Given the description of an element on the screen output the (x, y) to click on. 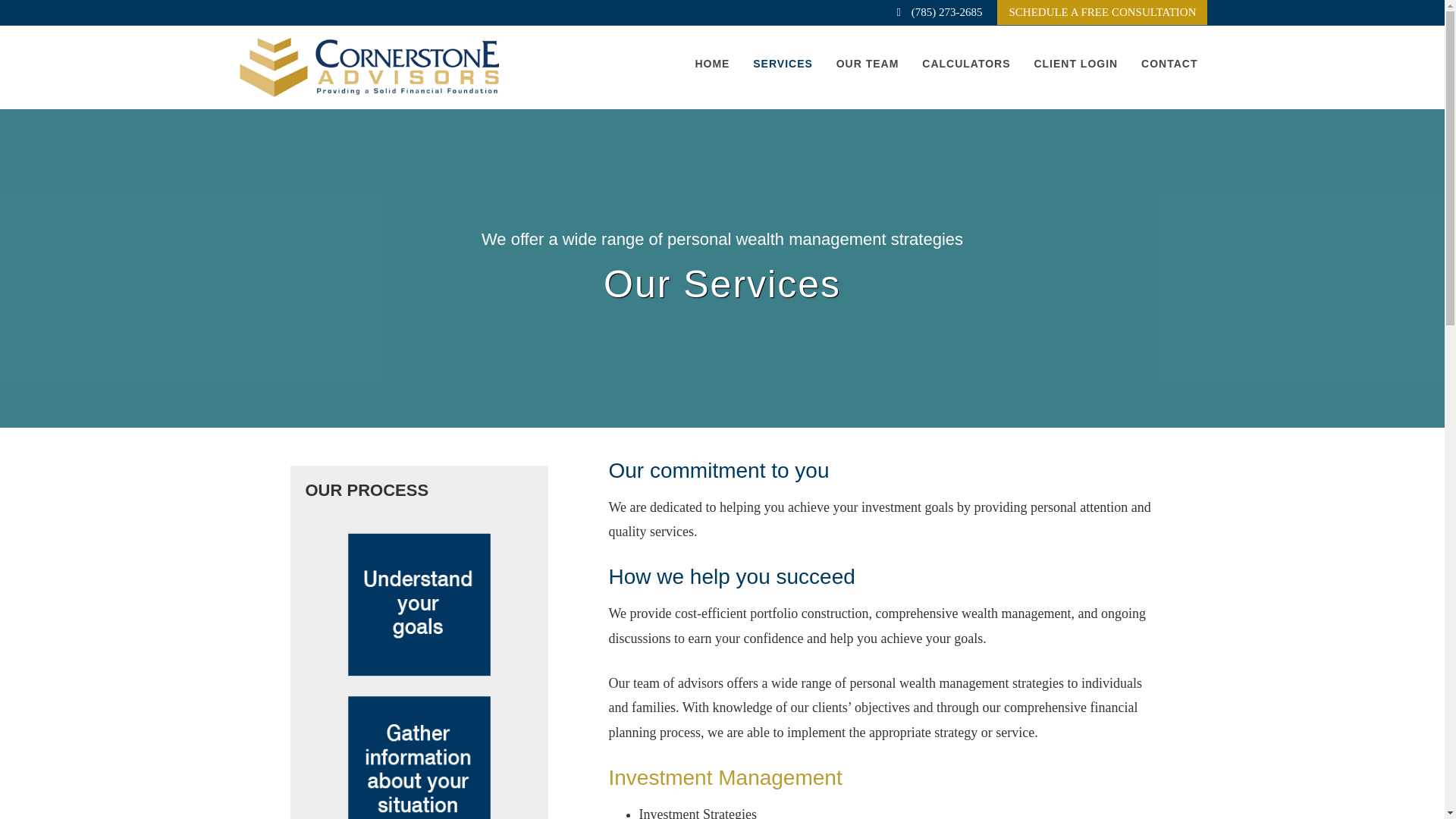
CONTACT (1169, 63)
CLIENT LOGIN (1074, 63)
CALCULATORS (966, 63)
OUR TEAM (867, 63)
SERVICES (782, 63)
CORNERSTONE ADVISORS (366, 67)
HOME (711, 63)
SCHEDULE A FREE CONSULTATION (1102, 12)
